Given the description of an element on the screen output the (x, y) to click on. 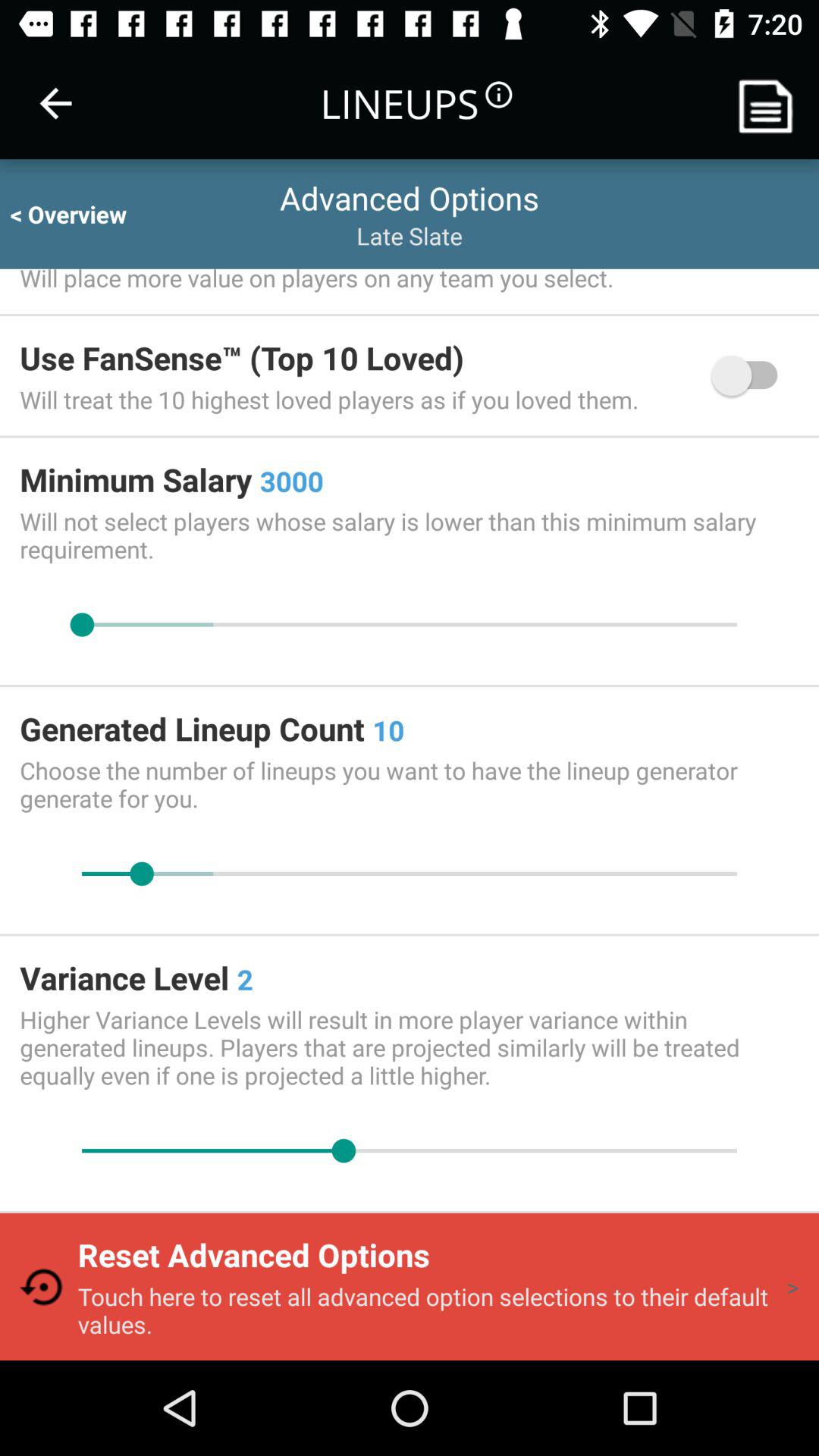
click item above will not select (751, 375)
